Given the description of an element on the screen output the (x, y) to click on. 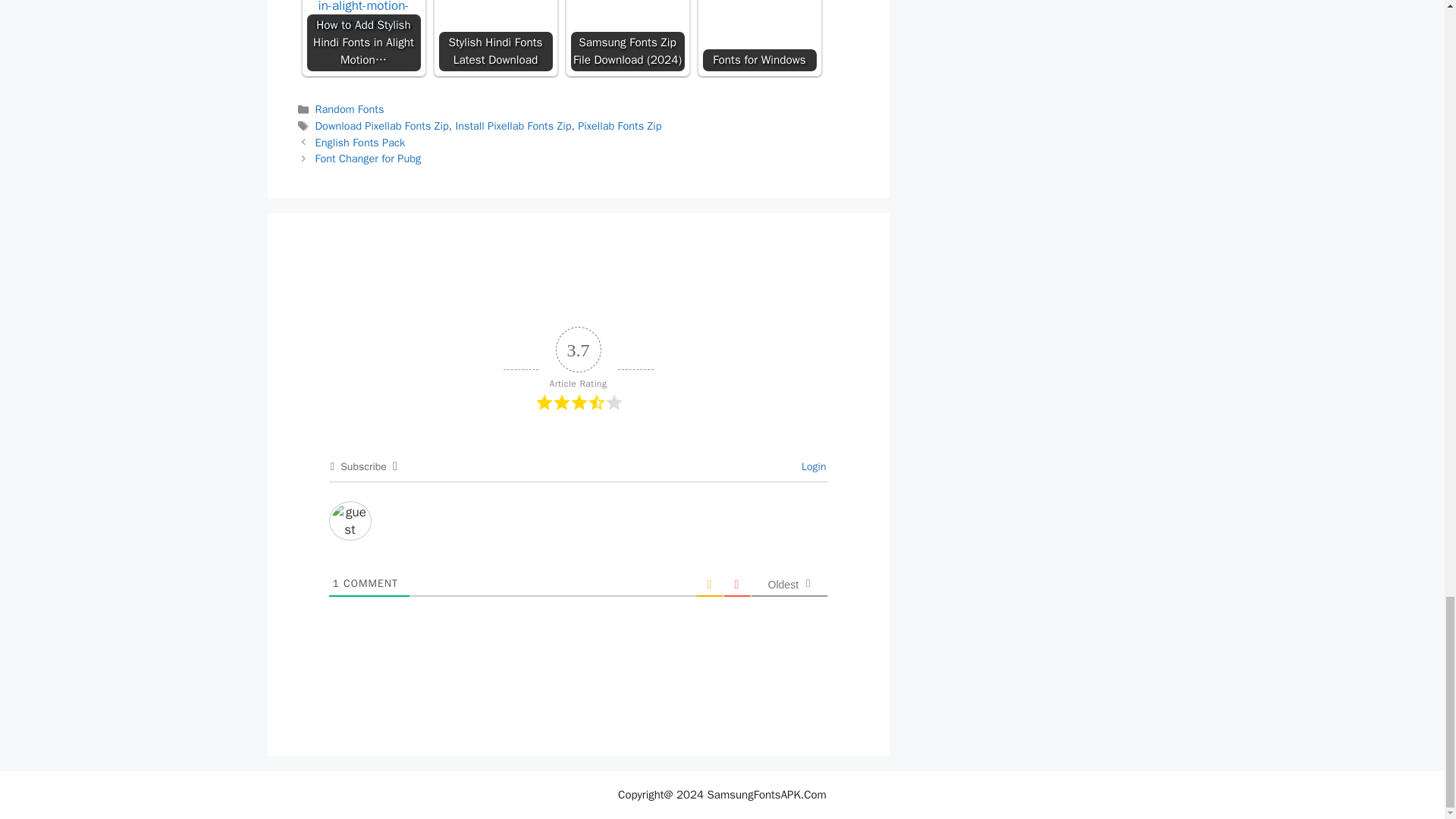
Download Pixellab Fonts Zip (381, 125)
Install Pixellab Fonts Zip (512, 125)
Random Fonts (349, 109)
English Fonts Pack (360, 142)
Login (811, 466)
Pixellab Fonts Zip (619, 125)
Stylish Hindi Fonts Latest Download (494, 35)
Font Changer for Pubg (368, 158)
Fonts for Windows (758, 35)
